Given the description of an element on the screen output the (x, y) to click on. 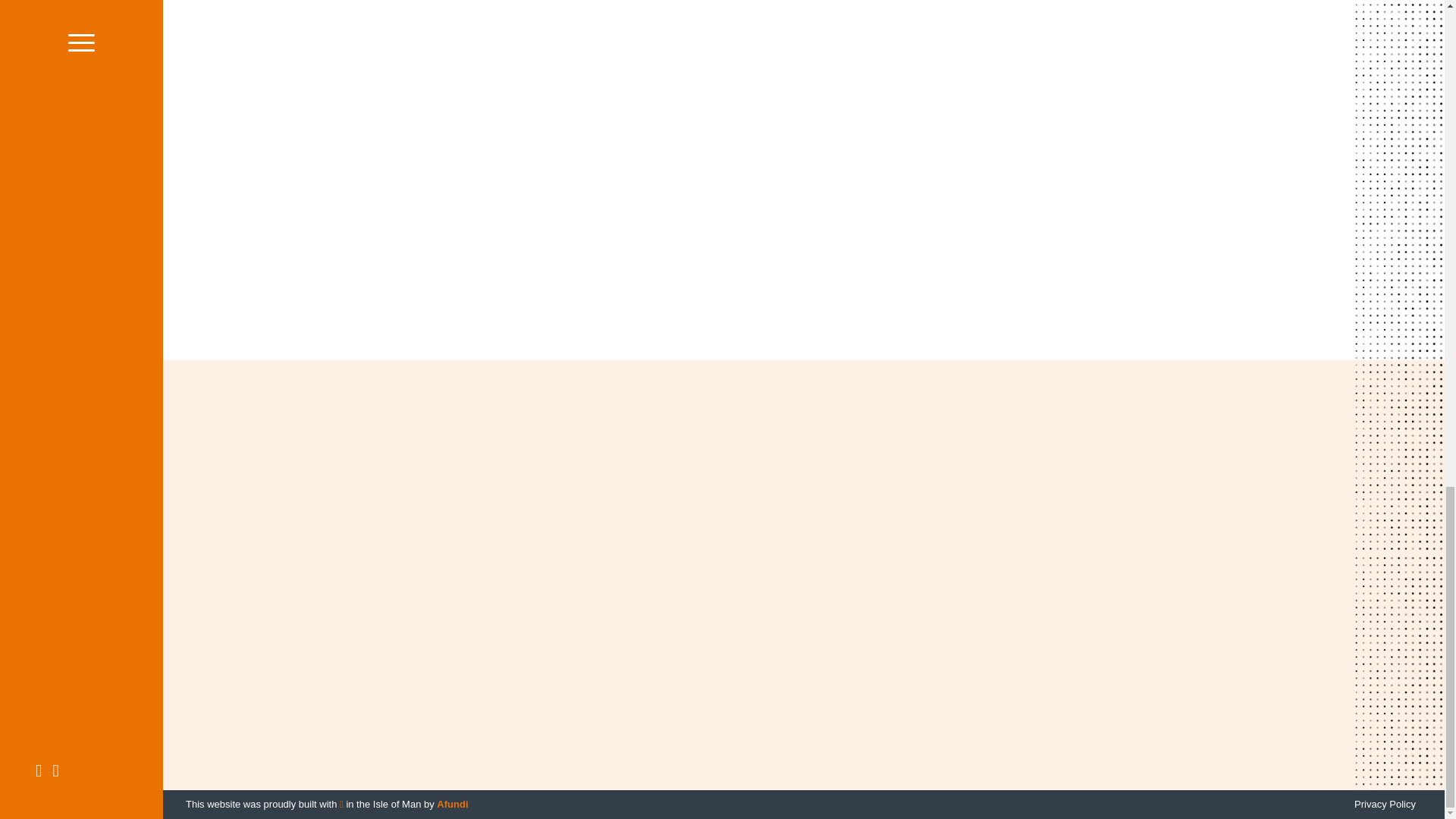
Website built by Afundi (451, 803)
Privacy Policy (1388, 803)
Afundi (451, 803)
